Given the description of an element on the screen output the (x, y) to click on. 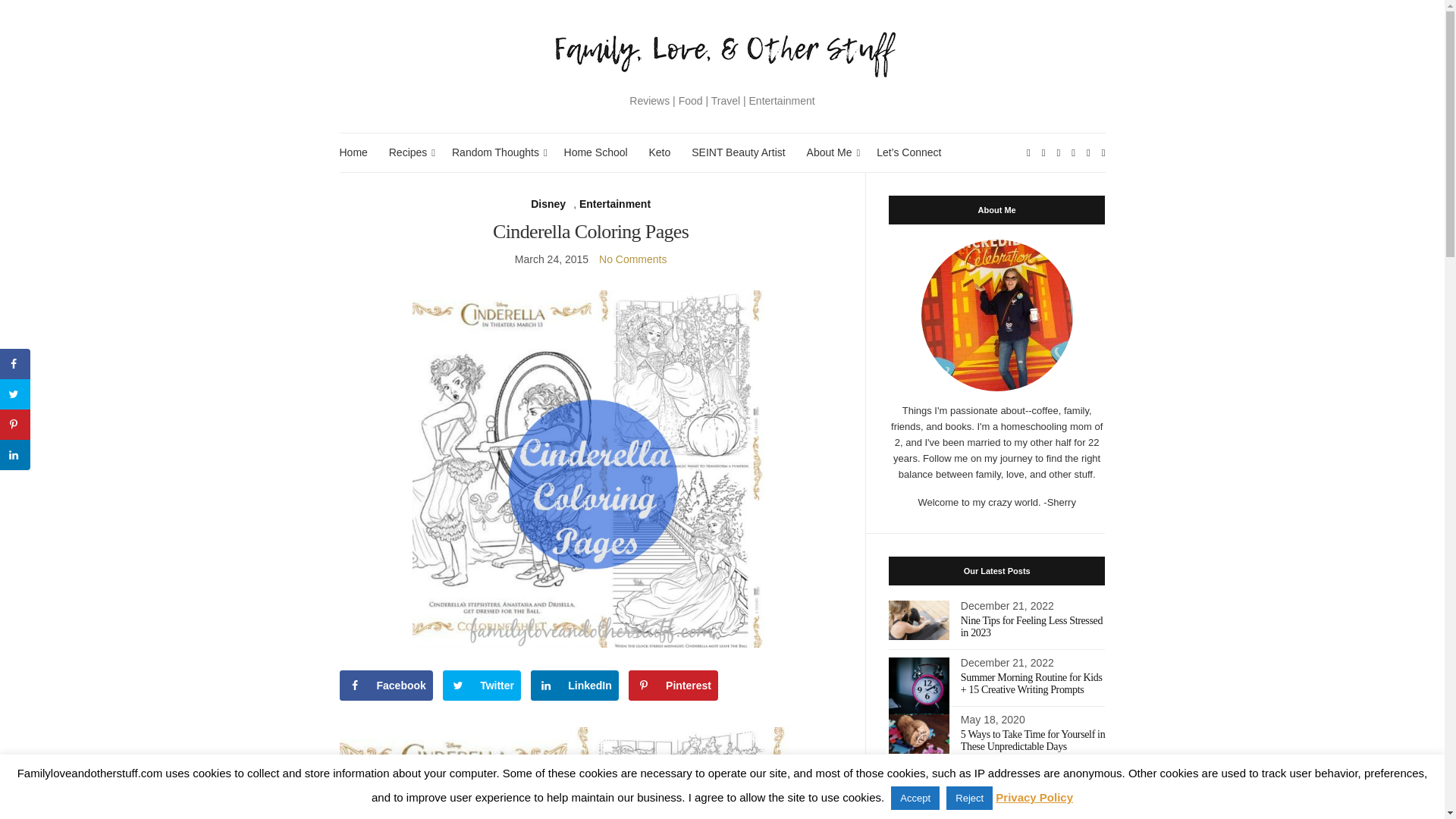
No Comments (632, 259)
Home (353, 152)
Recipes (409, 152)
Save to Pinterest (672, 685)
Entertainment (614, 203)
Share on LinkedIn (15, 454)
About Me (831, 152)
Share on Facebook (15, 363)
Share on LinkedIn (574, 685)
Random Thoughts (497, 152)
Share on Twitter (15, 394)
Share on Twitter (481, 685)
Save to Pinterest (15, 424)
Share on Facebook (385, 685)
Home School (595, 152)
